Given the description of an element on the screen output the (x, y) to click on. 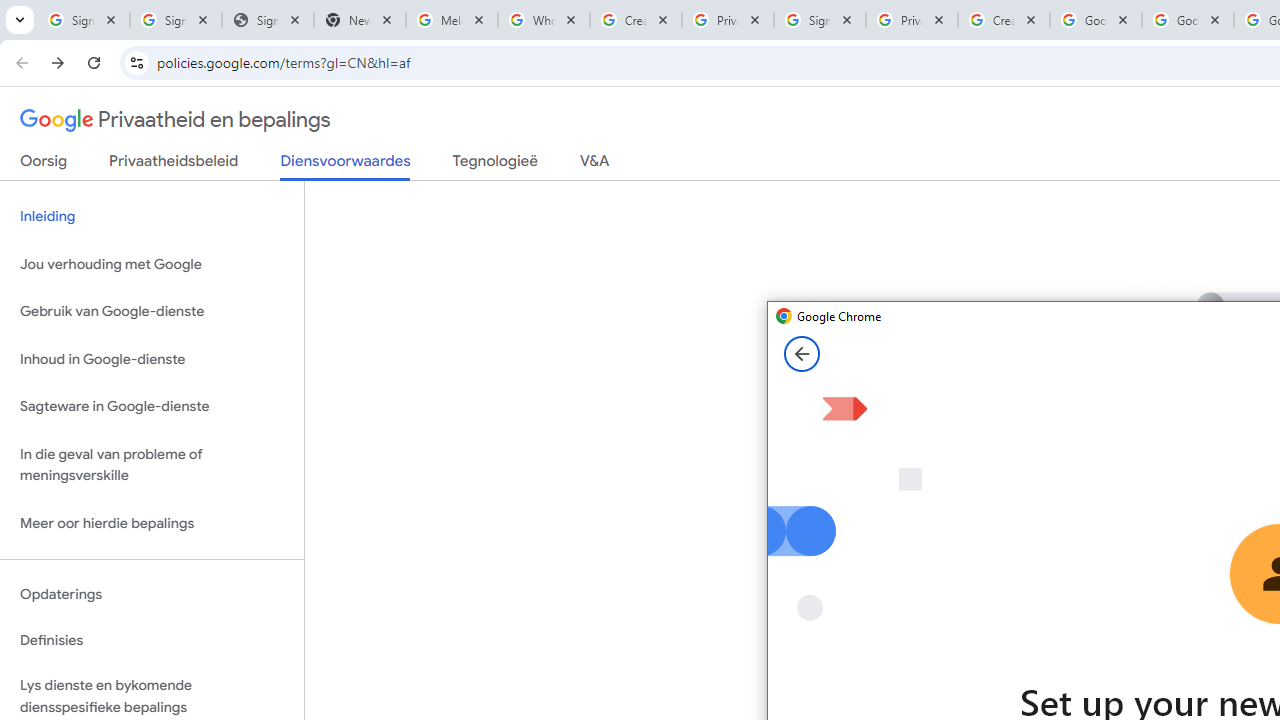
Opdaterings (152, 594)
Sign in - Google Accounts (83, 20)
Sign in - Google Accounts (175, 20)
Definisies (152, 640)
New Tab (359, 20)
Sagteware in Google-dienste (152, 407)
Inleiding (152, 216)
V&A (594, 165)
